Given the description of an element on the screen output the (x, y) to click on. 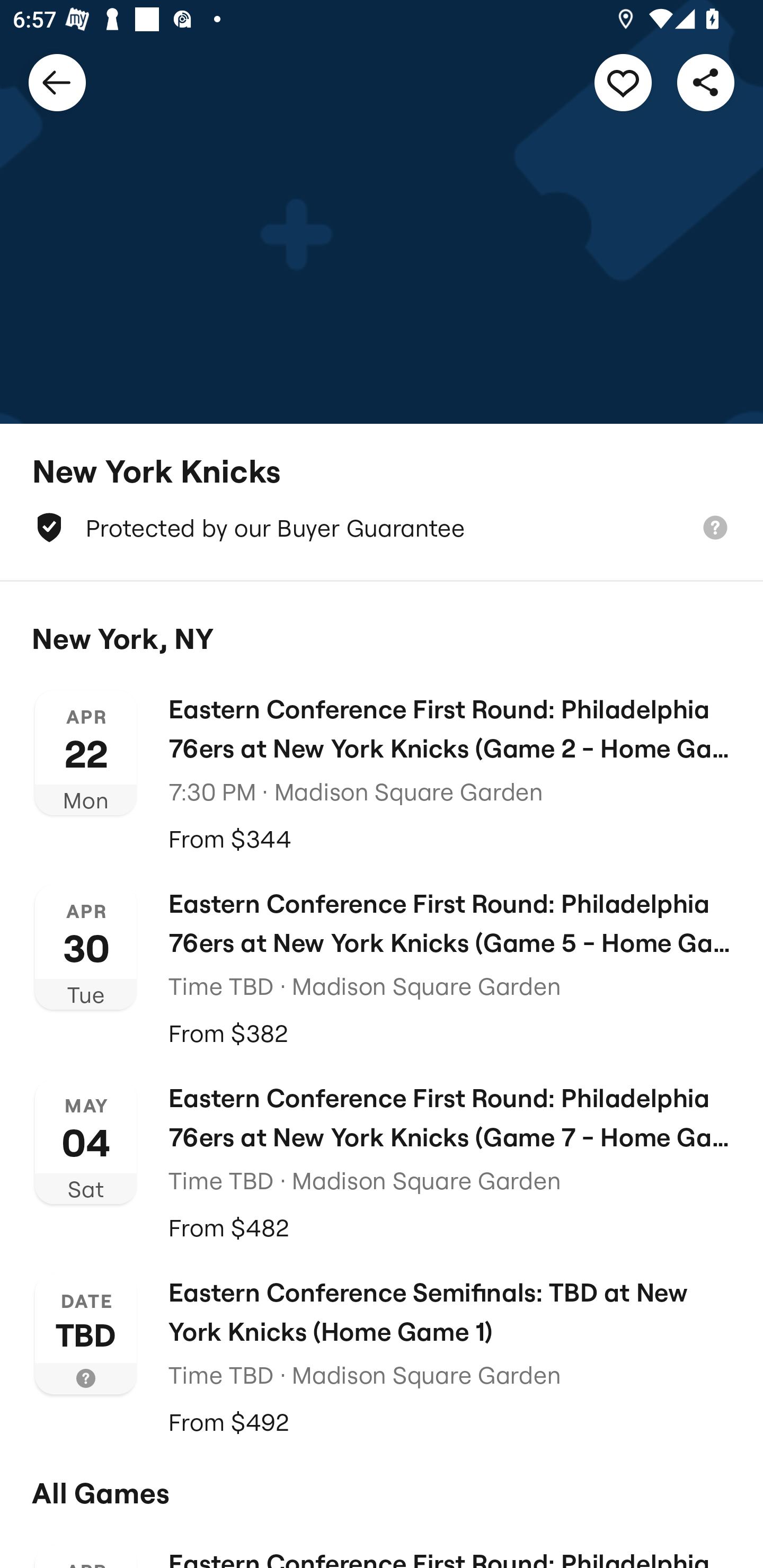
Back (57, 81)
Track this performer (623, 81)
Share this performer (705, 81)
Protected by our Buyer Guarantee Learn more (381, 527)
DATE TBD Learn more (85, 1333)
